Given the description of an element on the screen output the (x, y) to click on. 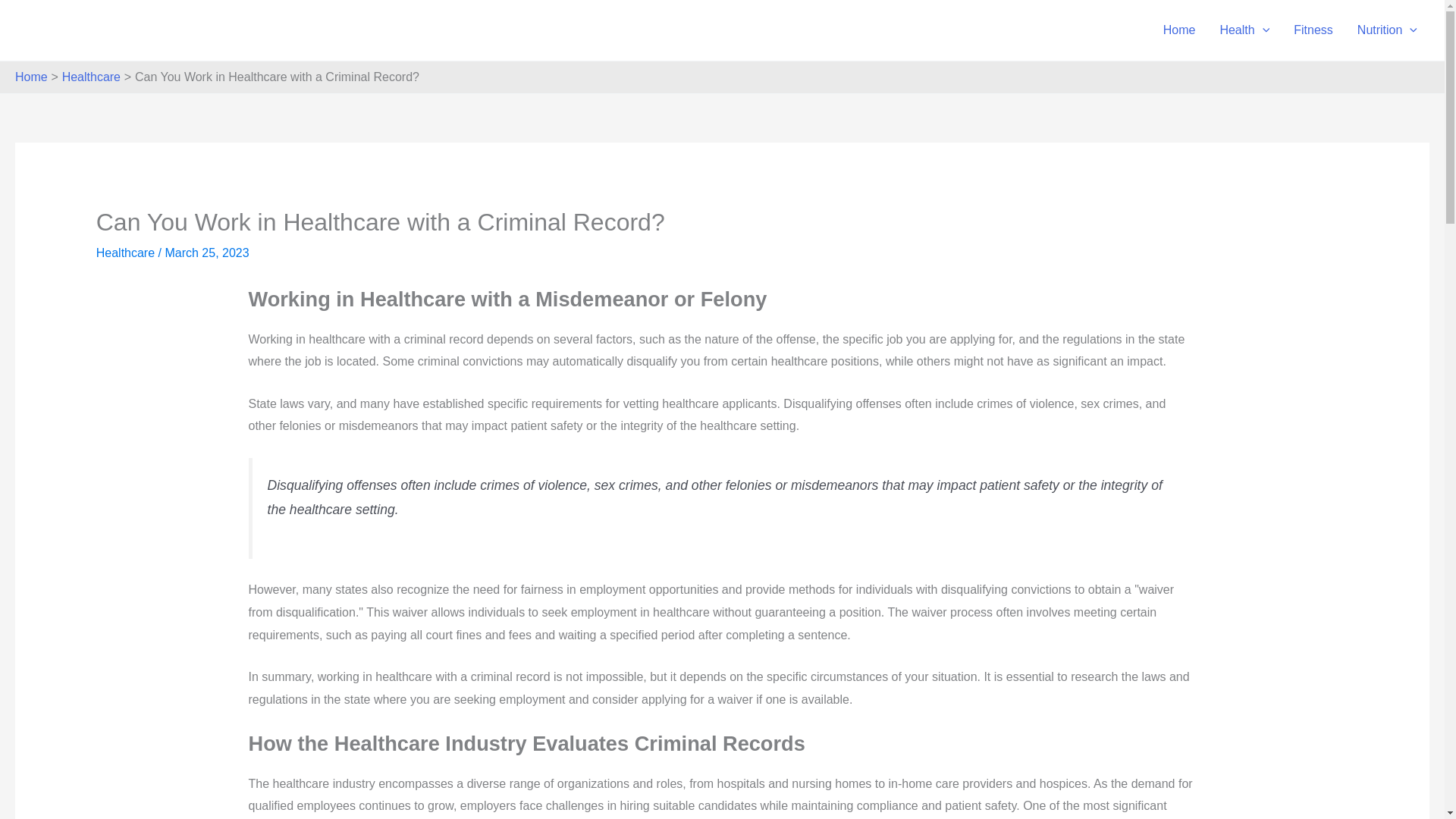
Health (1244, 30)
Fitness (1313, 30)
Home (1179, 30)
Nutrition (1387, 30)
